Given the description of an element on the screen output the (x, y) to click on. 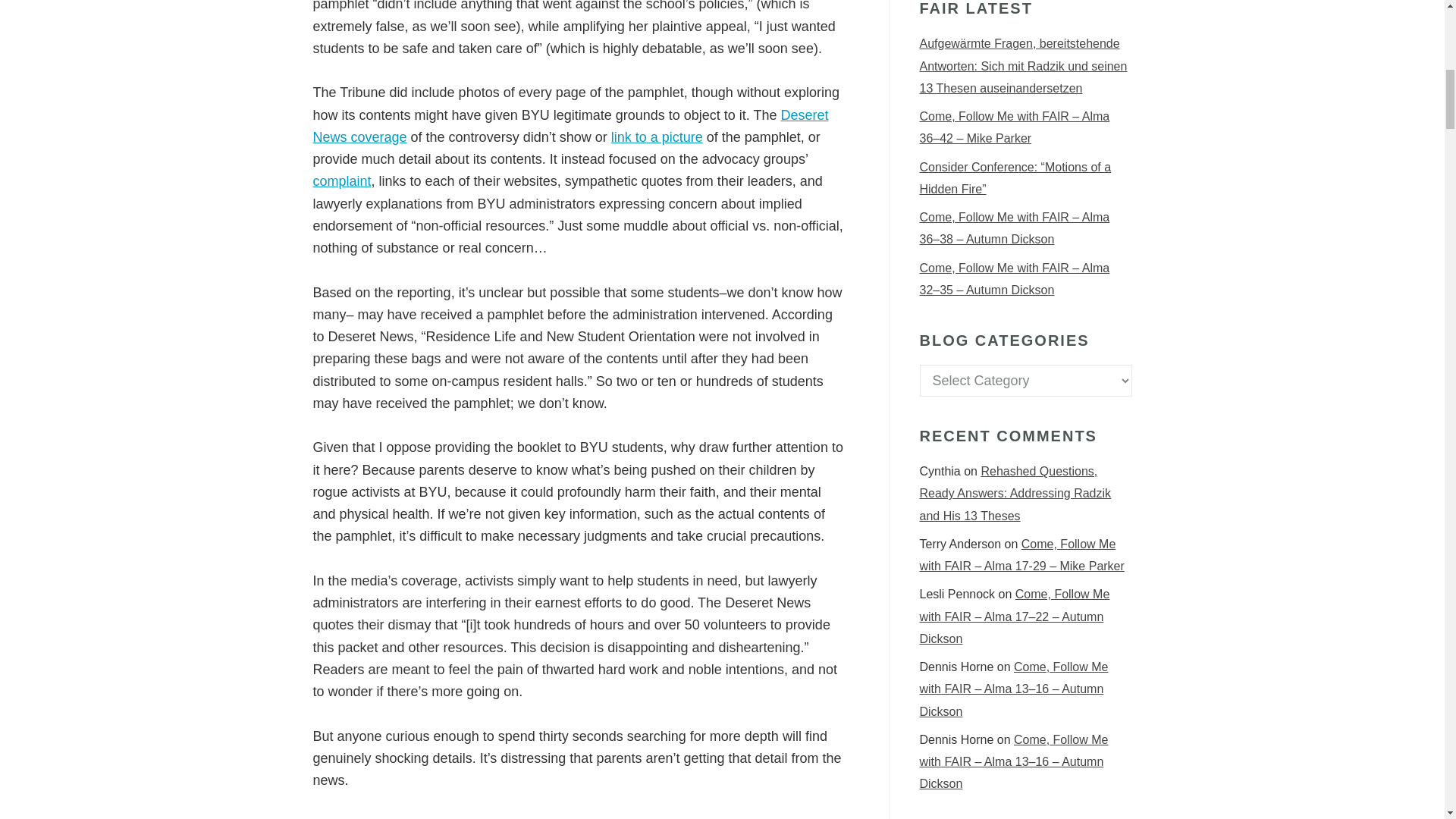
complaint (342, 181)
Deseret News coverage (570, 125)
link to a picture (657, 136)
